Given the description of an element on the screen output the (x, y) to click on. 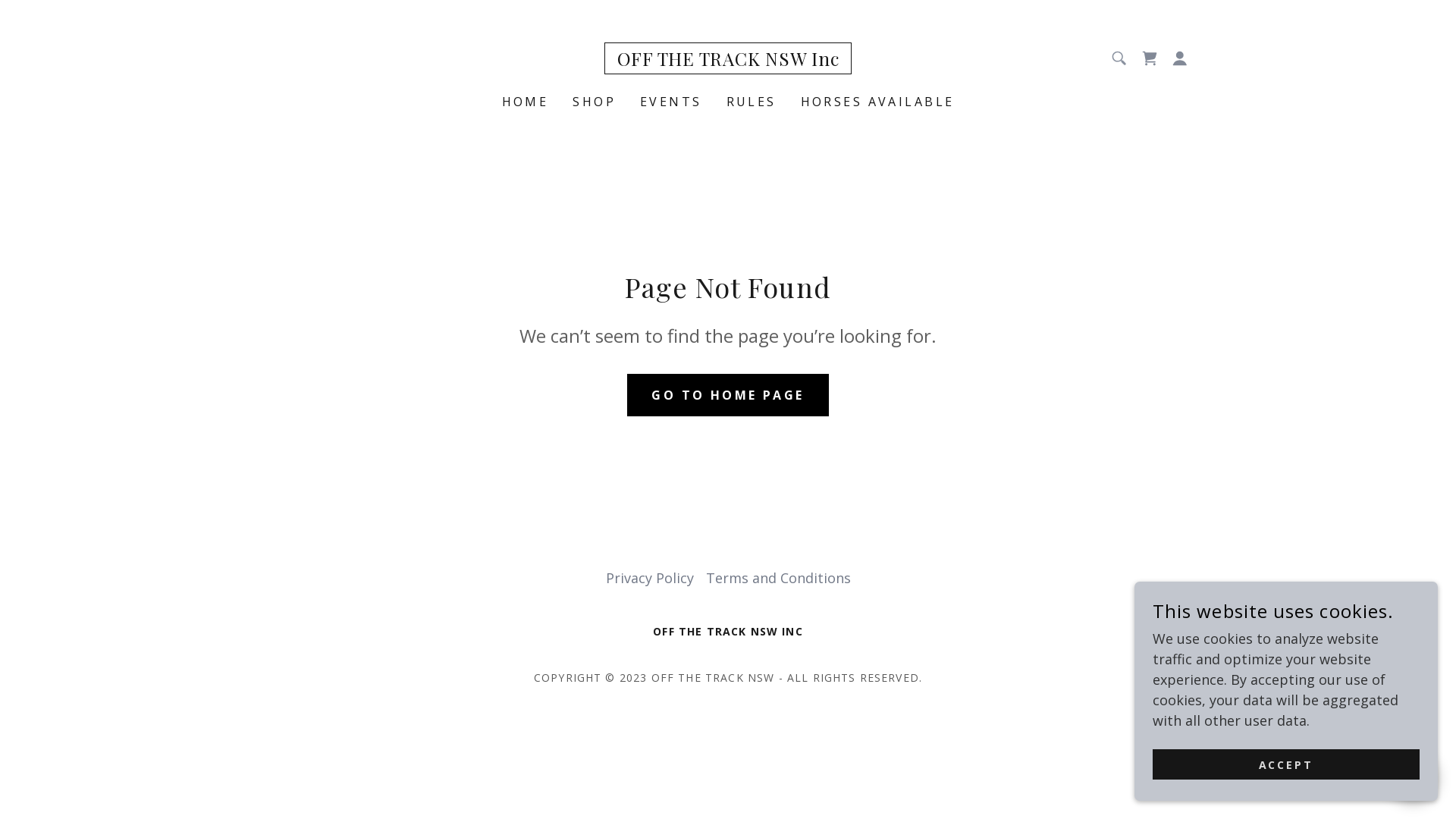
ACCEPT Element type: text (1285, 764)
RULES Element type: text (751, 101)
SHOP Element type: text (593, 101)
Privacy Policy Element type: text (649, 577)
HOME Element type: text (525, 101)
EVENTS Element type: text (670, 101)
HORSES AVAILABLE Element type: text (877, 101)
GO TO HOME PAGE Element type: text (727, 394)
OFF THE TRACK NSW Inc Element type: text (728, 60)
Terms and Conditions Element type: text (777, 577)
